Given the description of an element on the screen output the (x, y) to click on. 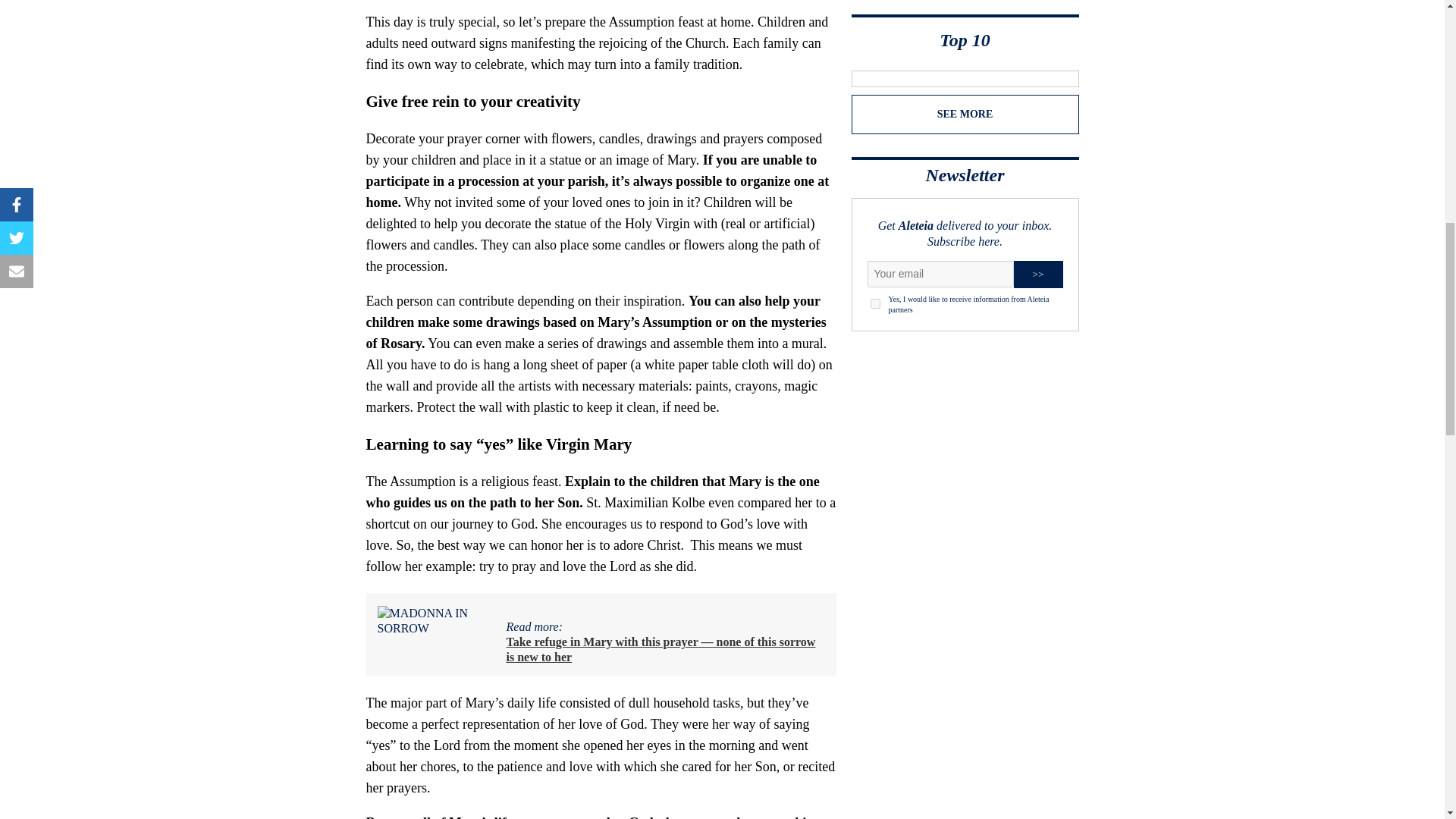
1 (875, 303)
